Given the description of an element on the screen output the (x, y) to click on. 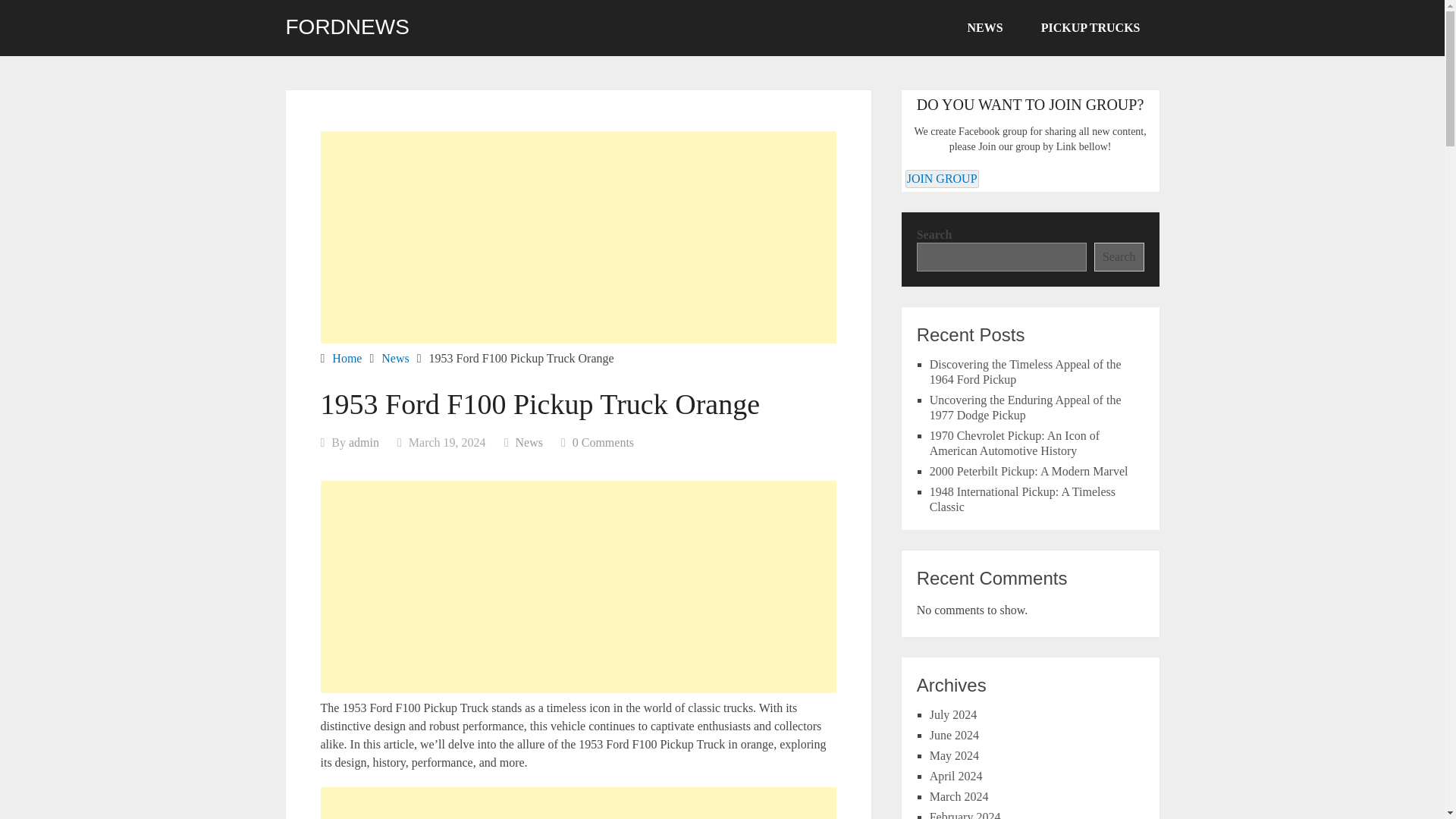
JOIN GROUP (941, 178)
April 2024 (956, 775)
Advertisement (577, 237)
Advertisement (577, 586)
May 2024 (954, 755)
Discovering the Timeless Appeal of the 1964 Ford Pickup (1025, 371)
July 2024 (953, 714)
Advertisement (577, 803)
February 2024 (965, 814)
March 2024 (959, 796)
2000 Peterbilt Pickup: A Modern Marvel (1029, 471)
FORDNEWS (347, 26)
admin (363, 441)
1948 International Pickup: A Timeless Classic (1022, 499)
